Given the description of an element on the screen output the (x, y) to click on. 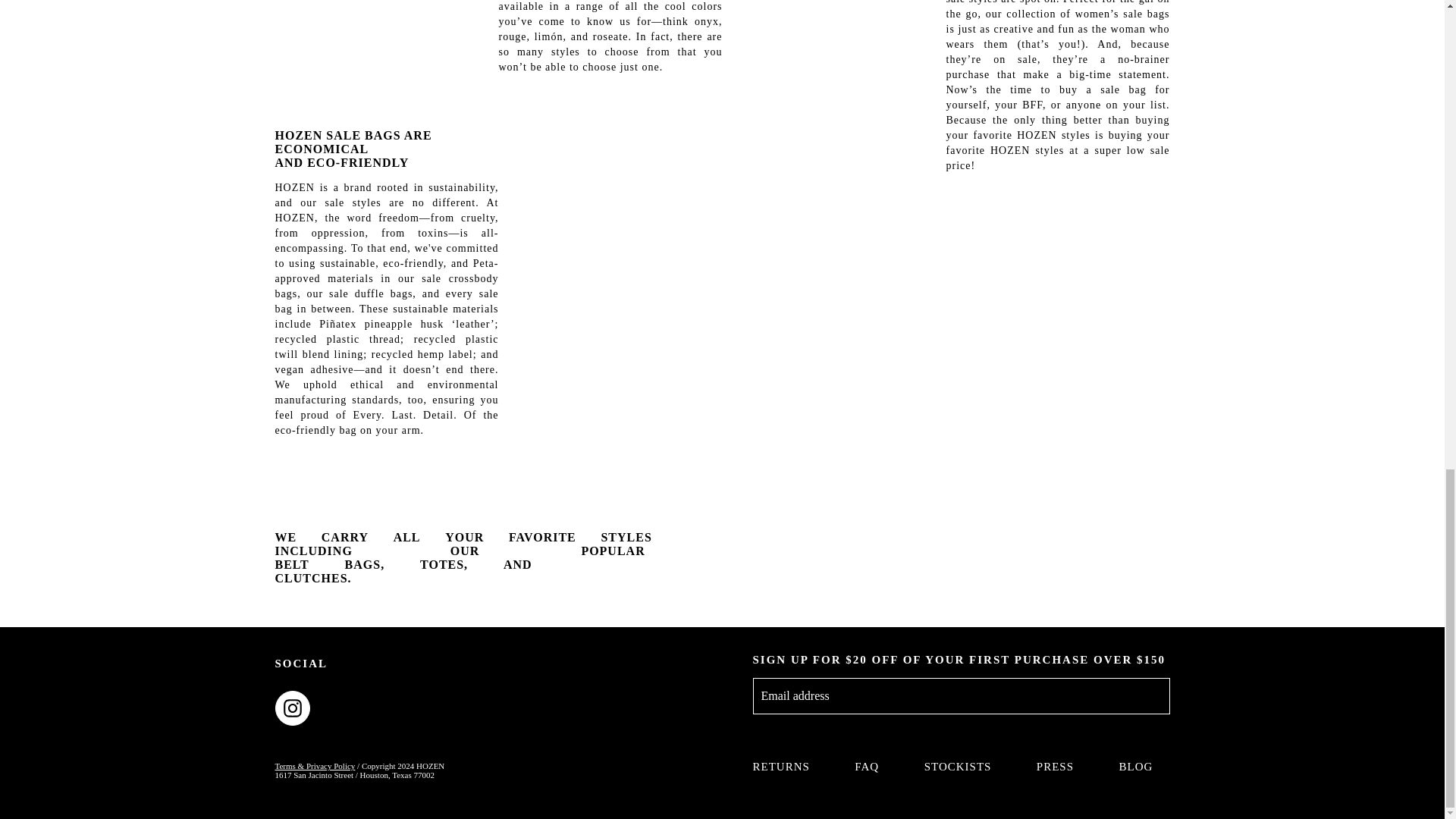
HOZEN on Instagram (292, 707)
